Given the description of an element on the screen output the (x, y) to click on. 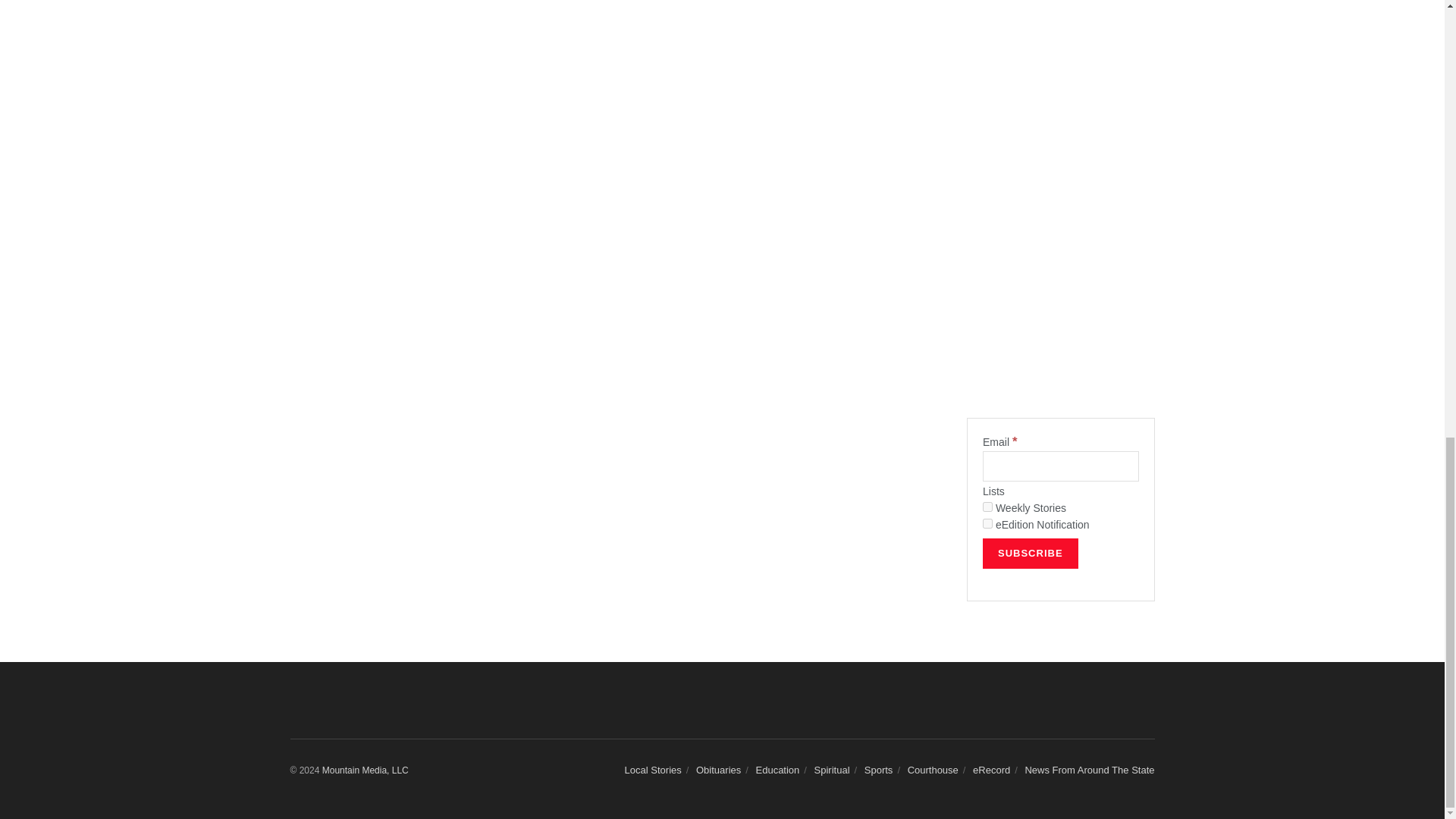
1 (987, 506)
Mountain Media, LLC (365, 769)
2 (987, 523)
Subscribe (1030, 553)
